Given the description of an element on the screen output the (x, y) to click on. 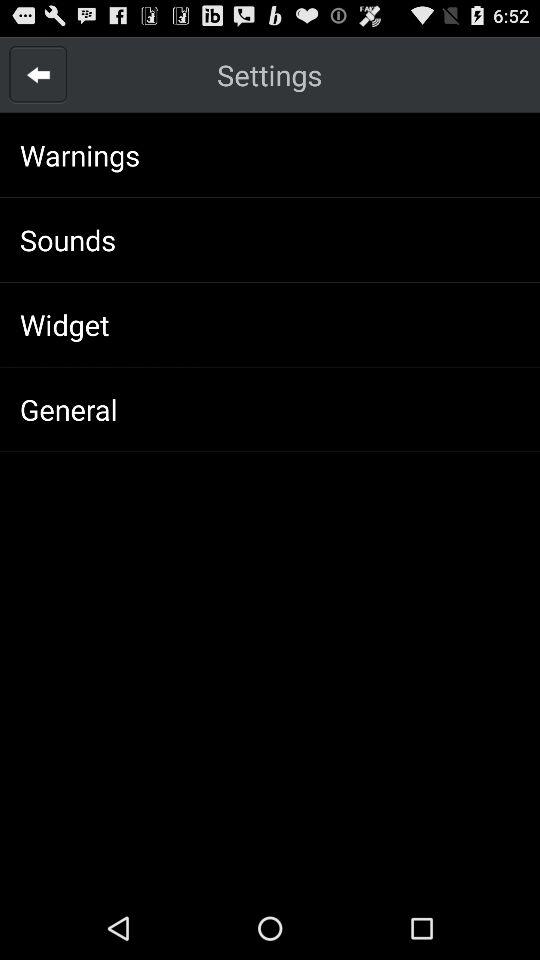
open the widget icon (64, 324)
